Given the description of an element on the screen output the (x, y) to click on. 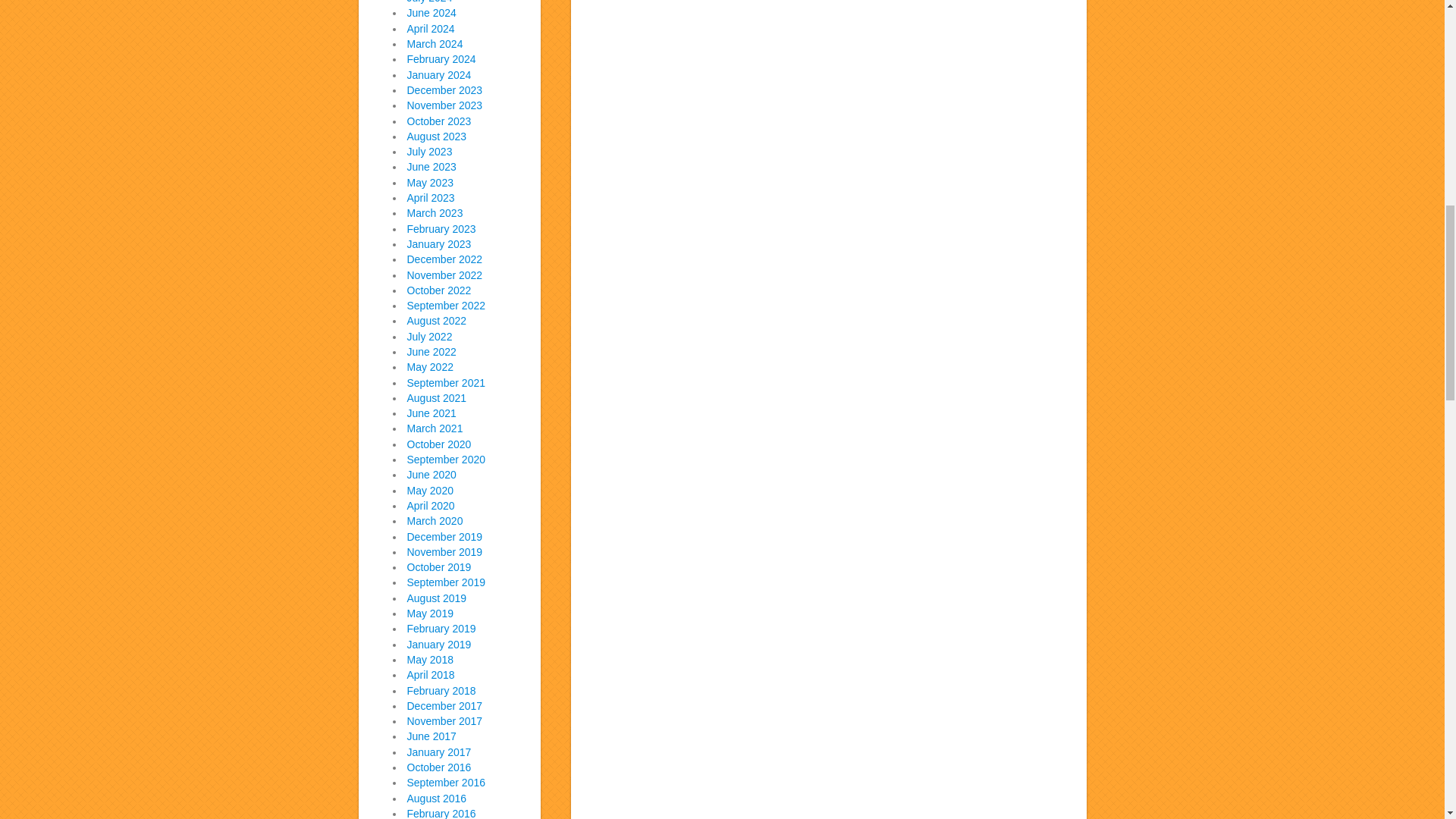
March 2024 (434, 43)
June 2024 (430, 12)
June 2023 (430, 166)
April 2023 (430, 197)
December 2023 (443, 90)
November 2023 (443, 105)
March 2023 (434, 213)
May 2023 (429, 182)
February 2024 (441, 59)
January 2024 (438, 74)
July 2024 (428, 2)
July 2023 (428, 151)
October 2023 (438, 121)
February 2023 (441, 228)
August 2023 (435, 136)
